Given the description of an element on the screen output the (x, y) to click on. 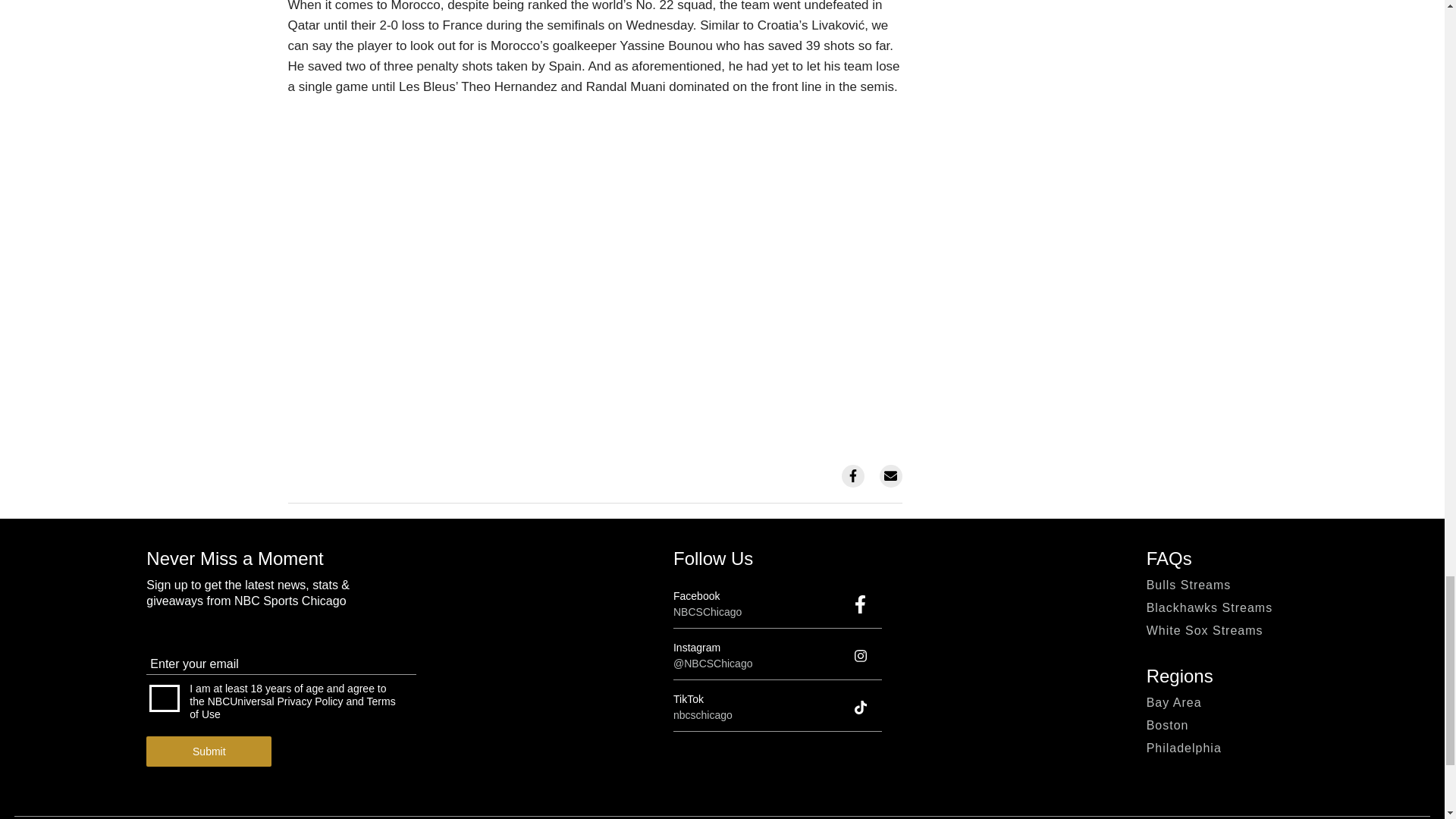
on (164, 697)
